Given the description of an element on the screen output the (x, y) to click on. 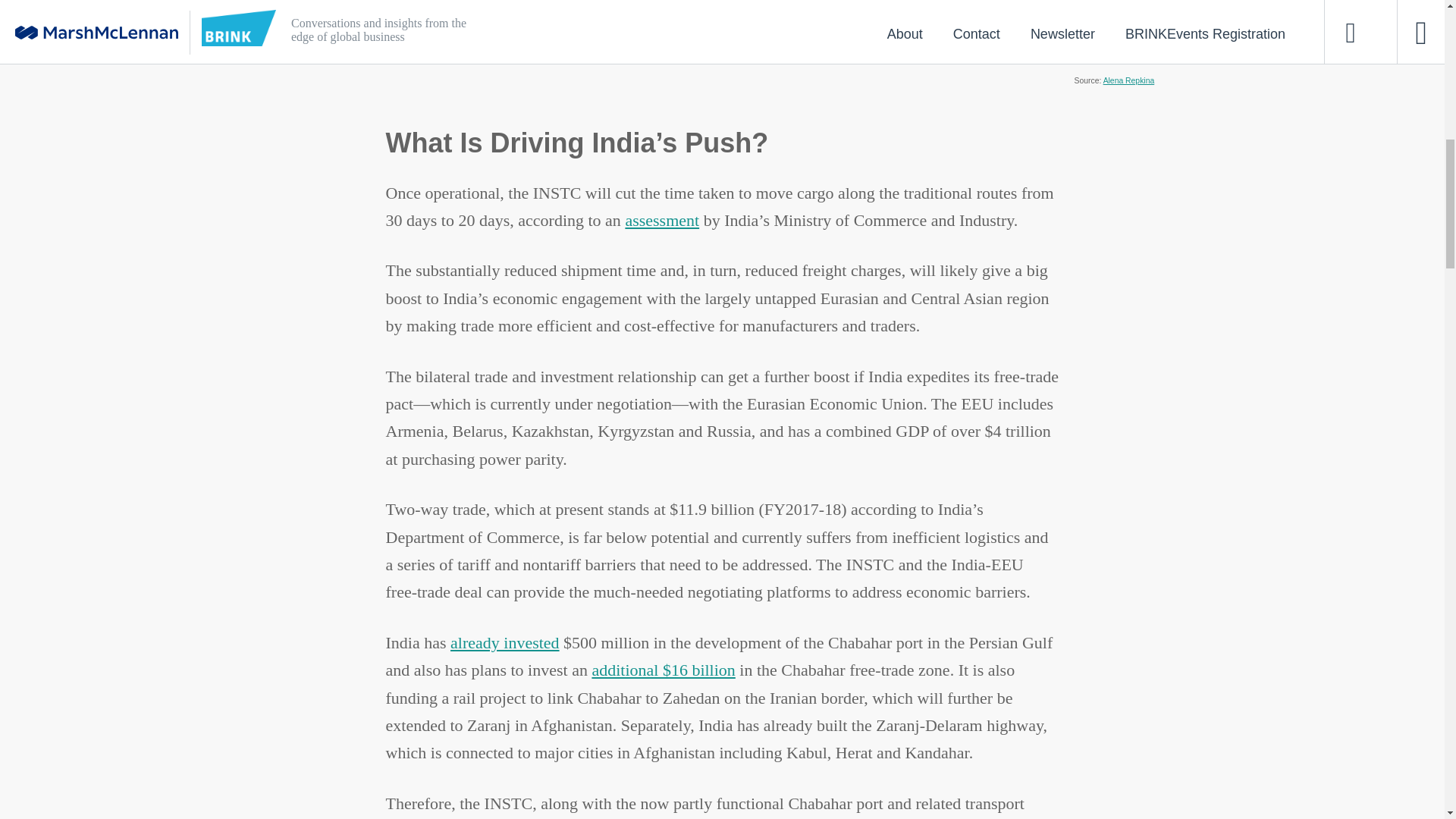
assessment (661, 220)
Alena Repkina (1128, 80)
already invested (504, 642)
